Given the description of an element on the screen output the (x, y) to click on. 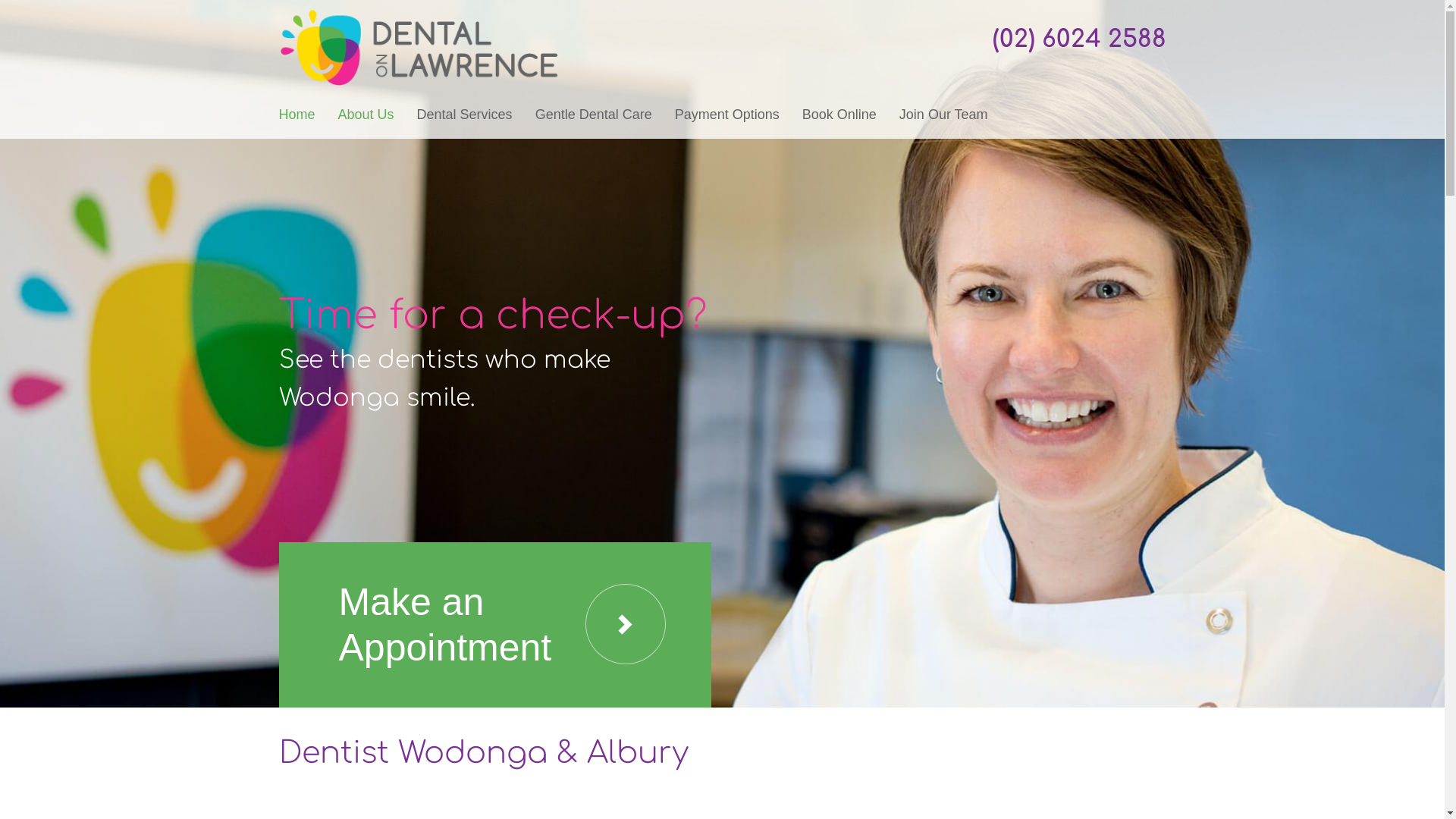
About Us Element type: text (366, 114)
Make an Appointment Element type: text (495, 624)
Book Online Element type: text (839, 114)
Skip to navigation Element type: text (47, 0)
Home Element type: hover (419, 15)
Dental Services Element type: text (464, 114)
Gentle Dental Care Element type: text (593, 114)
Skip to main content Element type: text (54, 0)
Join Our Team Element type: text (943, 114)
Home Element type: text (297, 114)
Payment Options Element type: text (726, 114)
